Given the description of an element on the screen output the (x, y) to click on. 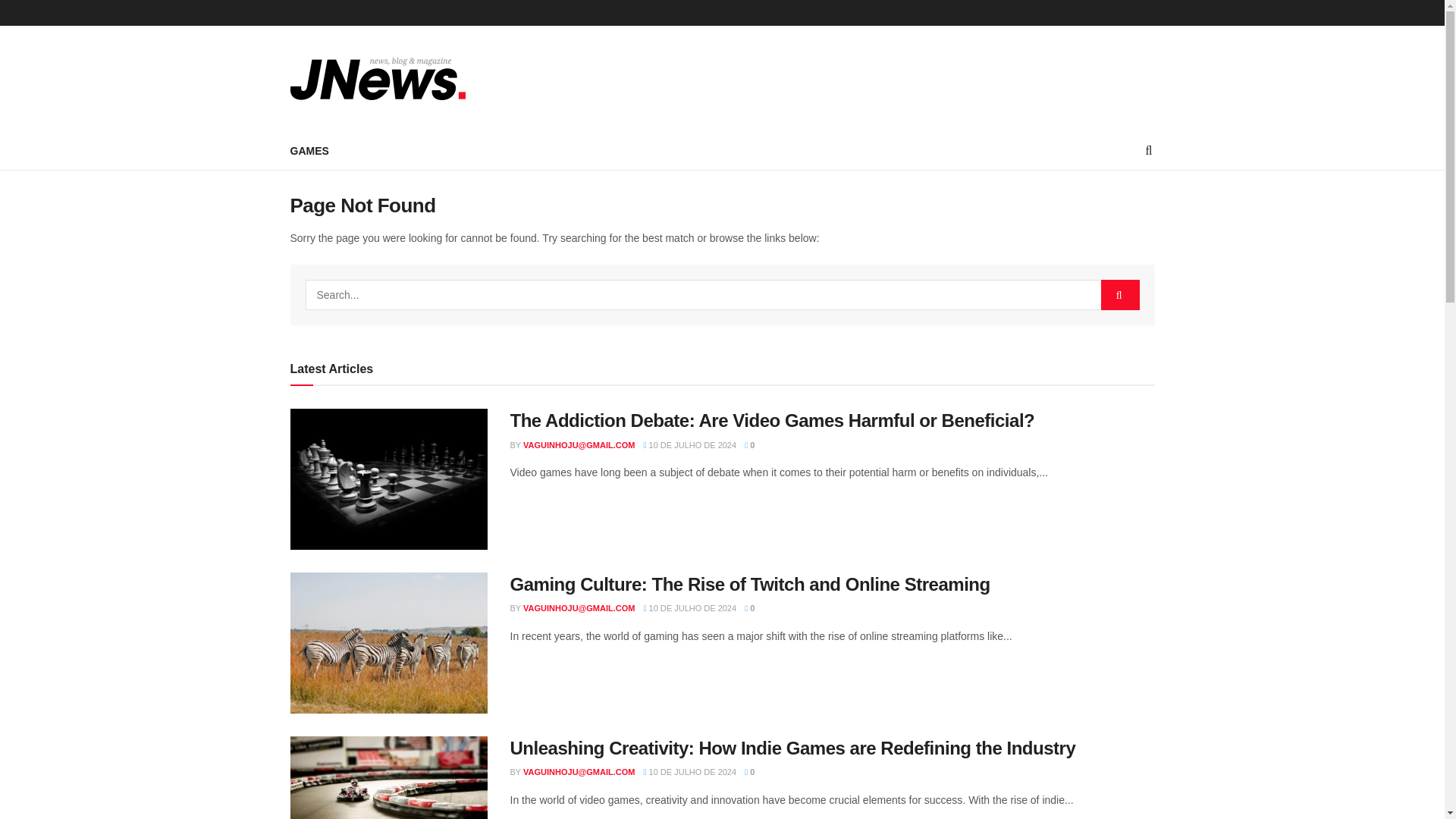
10 DE JULHO DE 2024 (689, 771)
The Addiction Debate: Are Video Games Harmful or Beneficial? (771, 420)
0 (749, 607)
10 DE JULHO DE 2024 (689, 444)
0 (749, 444)
Gaming Culture: The Rise of Twitch and Online Streaming (749, 584)
10 DE JULHO DE 2024 (689, 607)
GAMES (309, 150)
0 (749, 771)
